Given the description of an element on the screen output the (x, y) to click on. 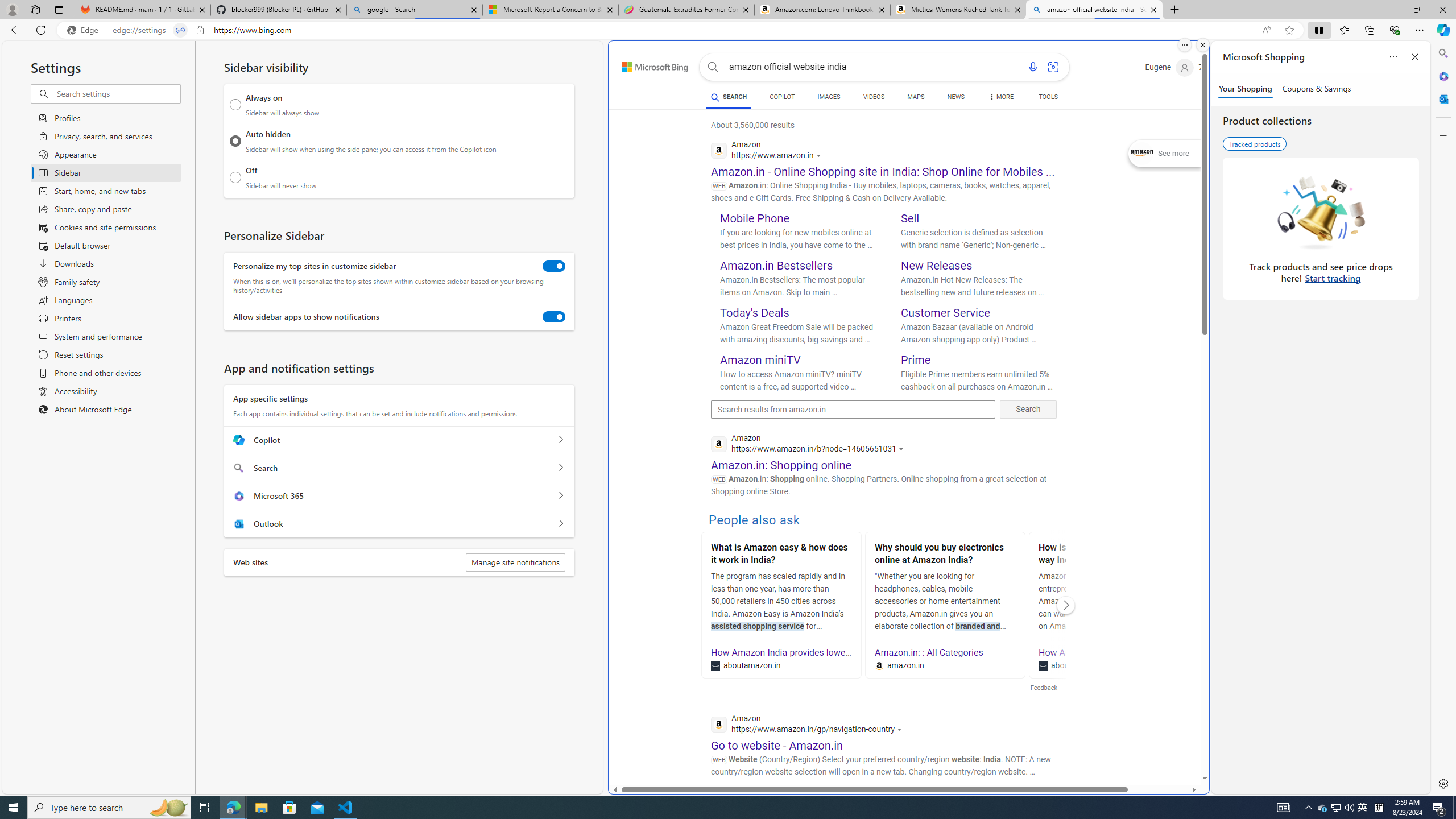
Amazon.in: Shopping online (780, 464)
How is Amazon easy changing the way India buys? (1108, 555)
Mobile Phone (755, 218)
NEWS (955, 96)
Amazon.in Bestsellers (776, 265)
